Given the description of an element on the screen output the (x, y) to click on. 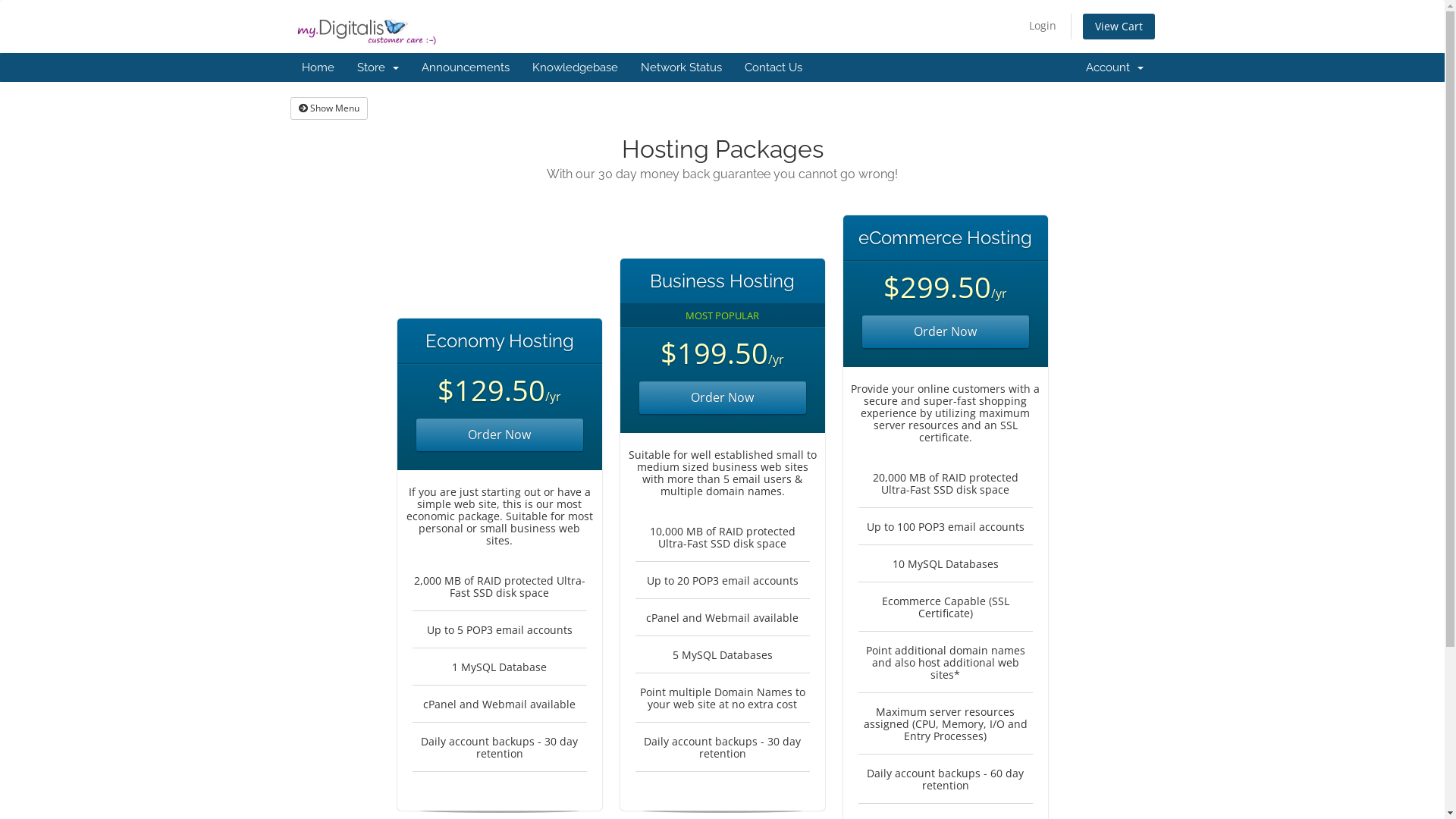
Order Now Element type: text (944, 331)
Network Status Element type: text (681, 67)
Home Element type: text (317, 67)
Order Now Element type: text (721, 397)
Store   Element type: text (377, 67)
View Cart Element type: text (1118, 26)
Order Now Element type: text (498, 434)
Contact Us Element type: text (772, 67)
Announcements Element type: text (464, 67)
Show Menu Element type: text (328, 108)
Account   Element type: text (1113, 67)
Knowledgebase Element type: text (574, 67)
Login Element type: text (1041, 25)
